Given the description of an element on the screen output the (x, y) to click on. 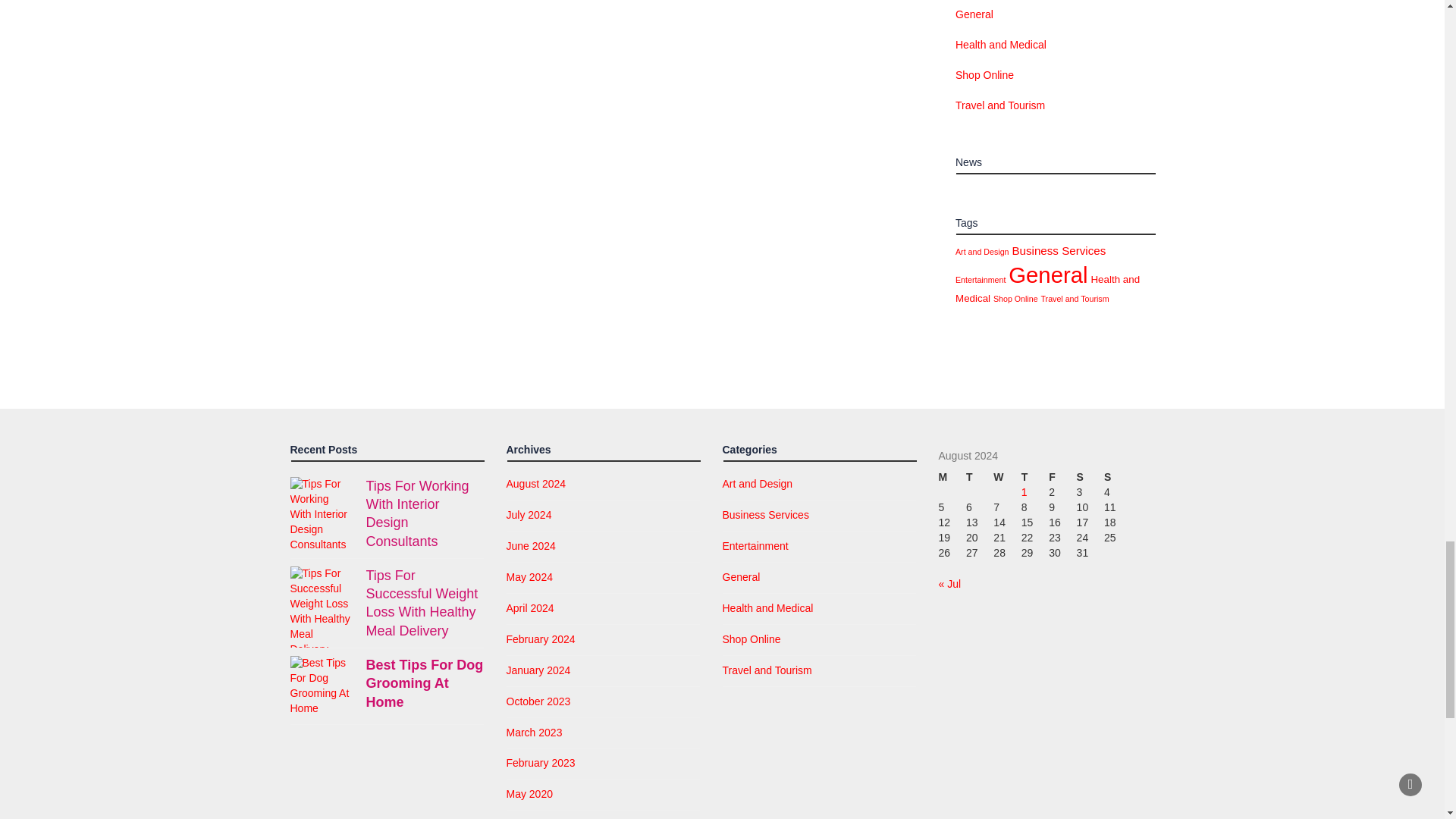
Saturday (1090, 477)
Wednesday (1006, 477)
Monday (952, 477)
Friday (1061, 477)
Thursday (1035, 477)
Tuesday (979, 477)
